Given the description of an element on the screen output the (x, y) to click on. 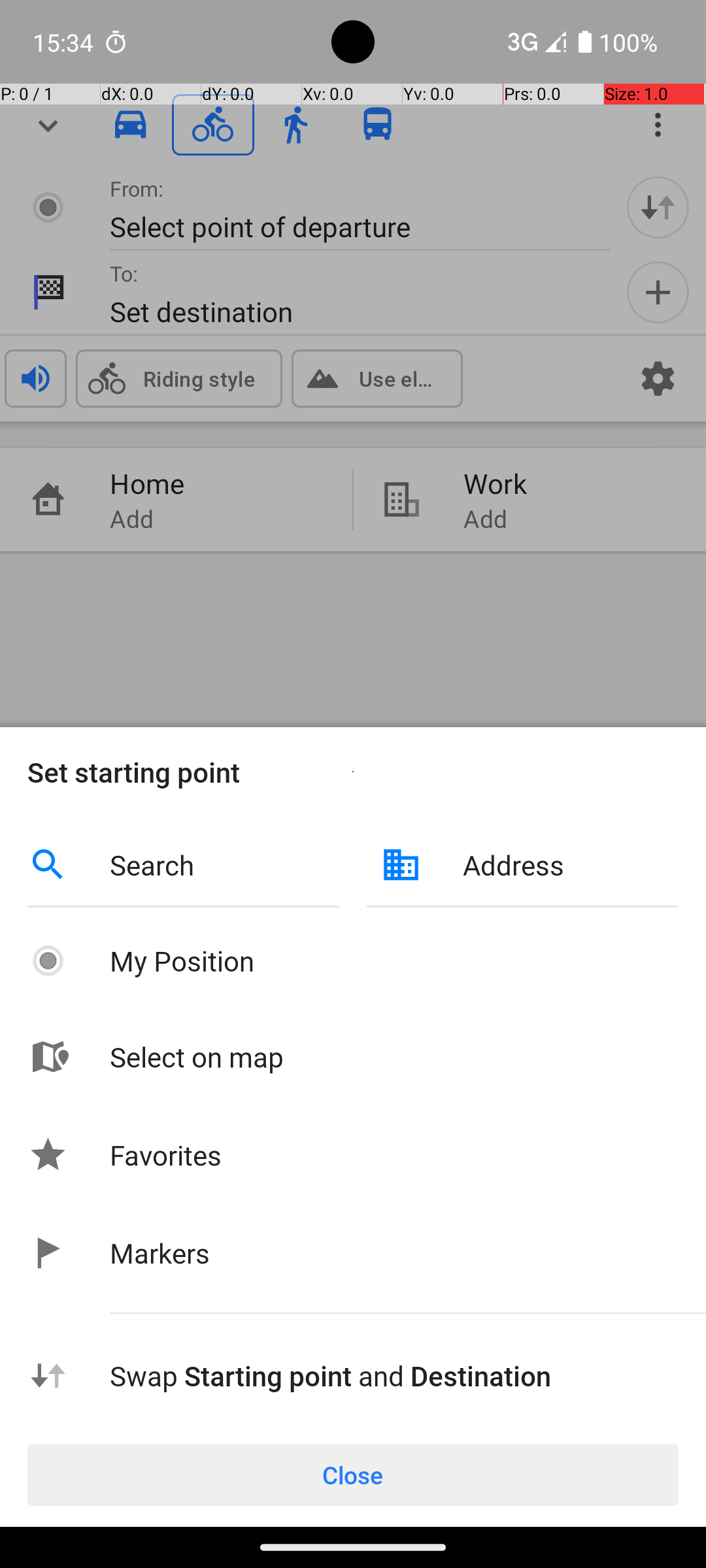
Close the dialog Element type: android.view.View (353, 392)
Set starting point Element type: android.widget.TextView (353, 771)
Address Element type: android.widget.TextView (570, 864)
My Position Element type: android.widget.TextView (393, 960)
Select on map Element type: android.widget.TextView (393, 1056)
Swap Starting point and Destination Element type: android.widget.TextView (393, 1375)
Favorites Element type: android.widget.TextView (165, 1154)
Markers Element type: android.widget.TextView (159, 1252)
